Given the description of an element on the screen output the (x, y) to click on. 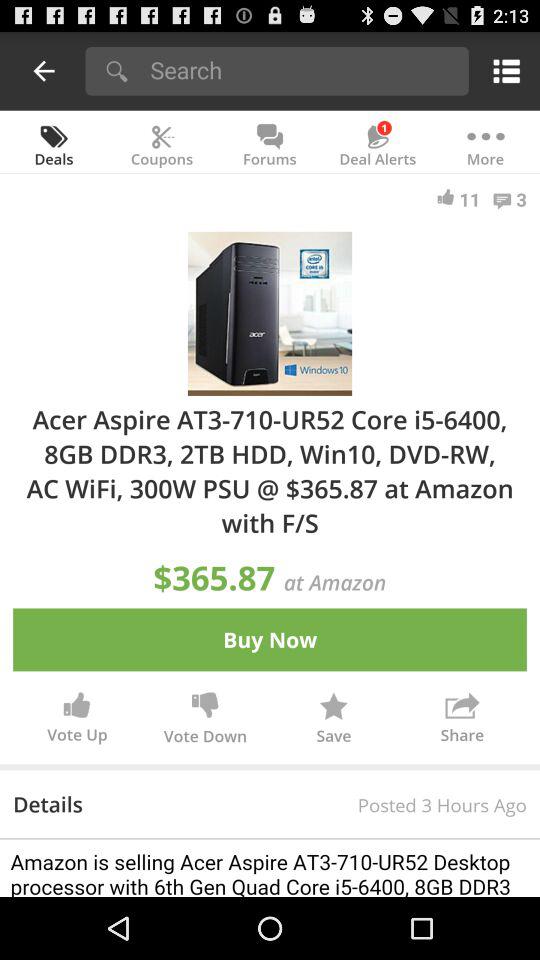
open item next to the share (333, 721)
